Given the description of an element on the screen output the (x, y) to click on. 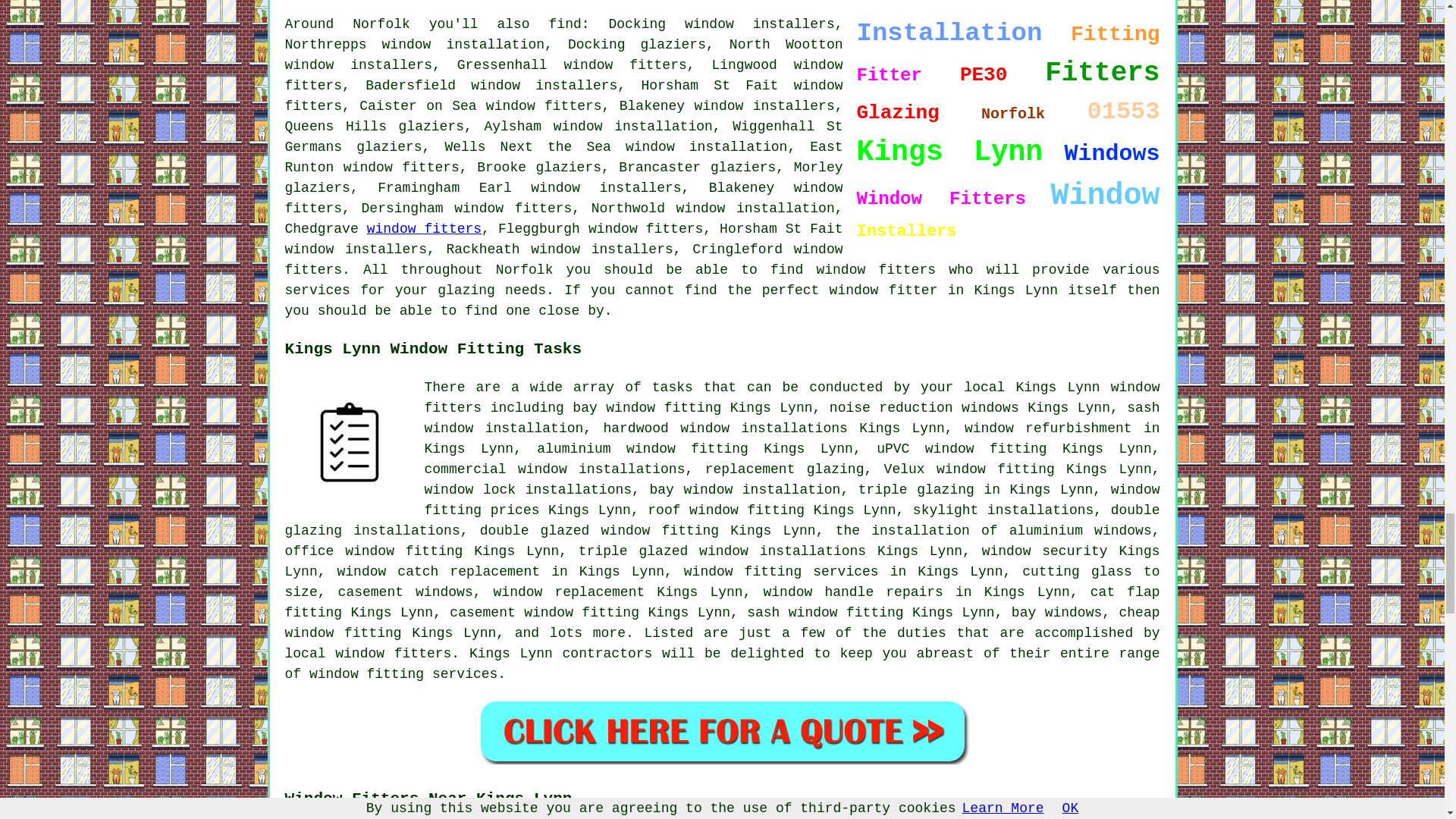
KINGS LYNN WINDOW FITTERS QUOTES (722, 731)
glaziers (317, 187)
window installers (764, 105)
Window Fitting Tasks Kings Lynn (349, 441)
window fitters (423, 228)
window installation (706, 146)
window fitters (625, 64)
